Given the description of an element on the screen output the (x, y) to click on. 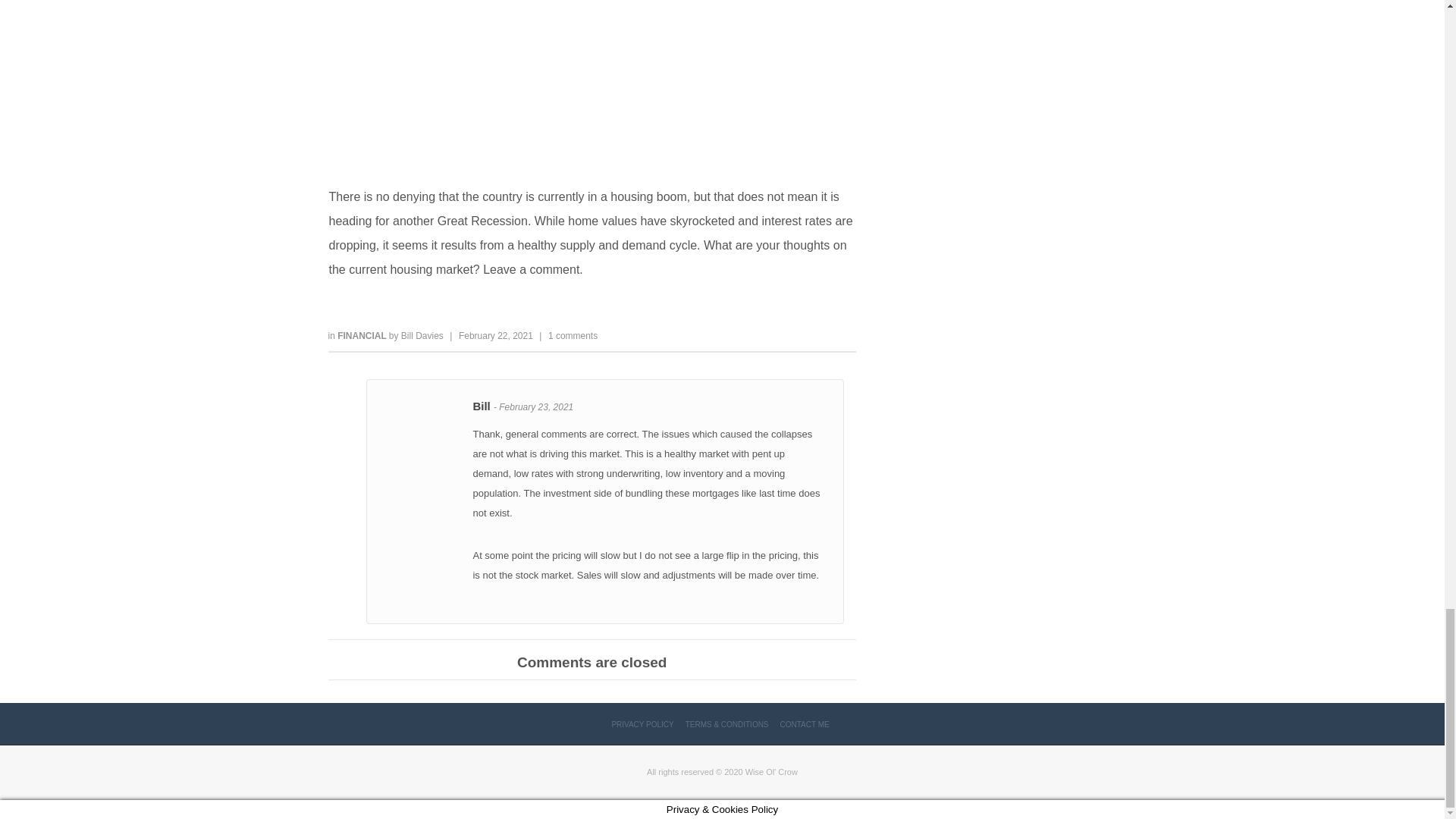
Rent (591, 84)
Bill Davies (422, 335)
Bill (482, 405)
FINANCIAL (362, 335)
1 comments (572, 335)
